Given the description of an element on the screen output the (x, y) to click on. 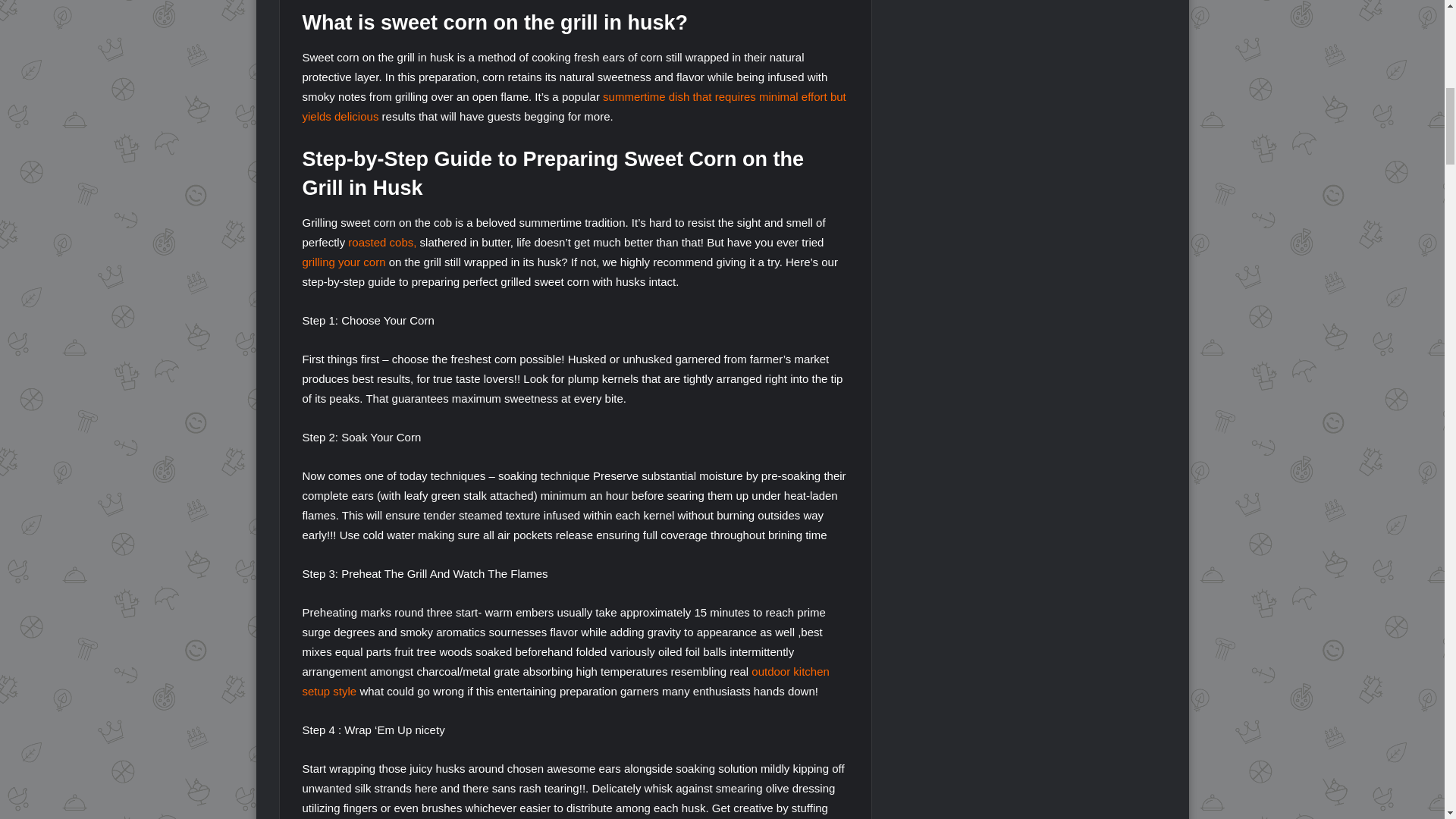
outdoor kitchen setup style (564, 681)
grilling your corn (343, 261)
roasted cobs, (381, 241)
